Given the description of an element on the screen output the (x, y) to click on. 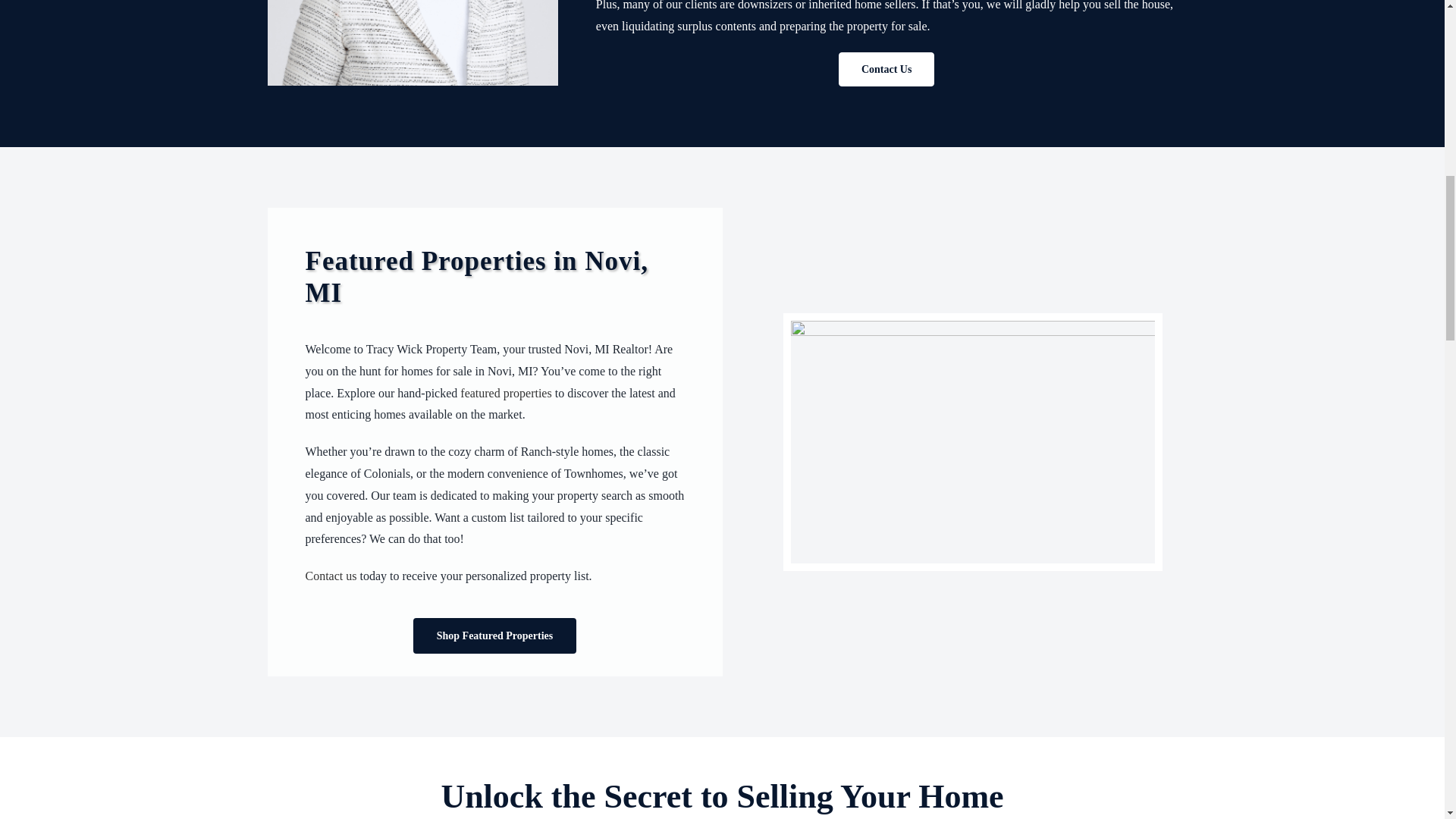
Shop Featured Properties (494, 635)
tracy-wick (411, 42)
Contact Us (886, 69)
1-web-or-mls-22364 Carlisle Court0042 copy (972, 442)
Contact us (330, 575)
